Given the description of an element on the screen output the (x, y) to click on. 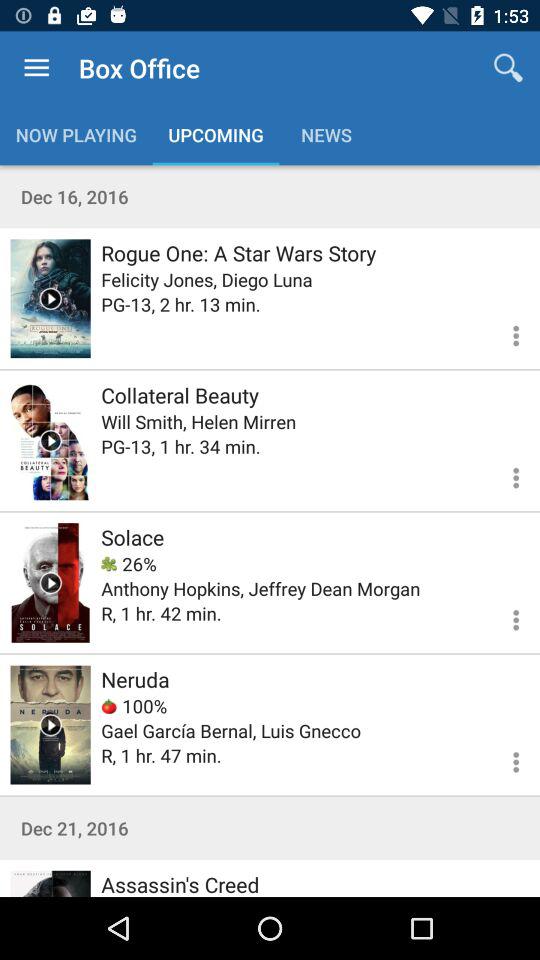
turn on the anthony hopkins jeffrey (260, 588)
